Given the description of an element on the screen output the (x, y) to click on. 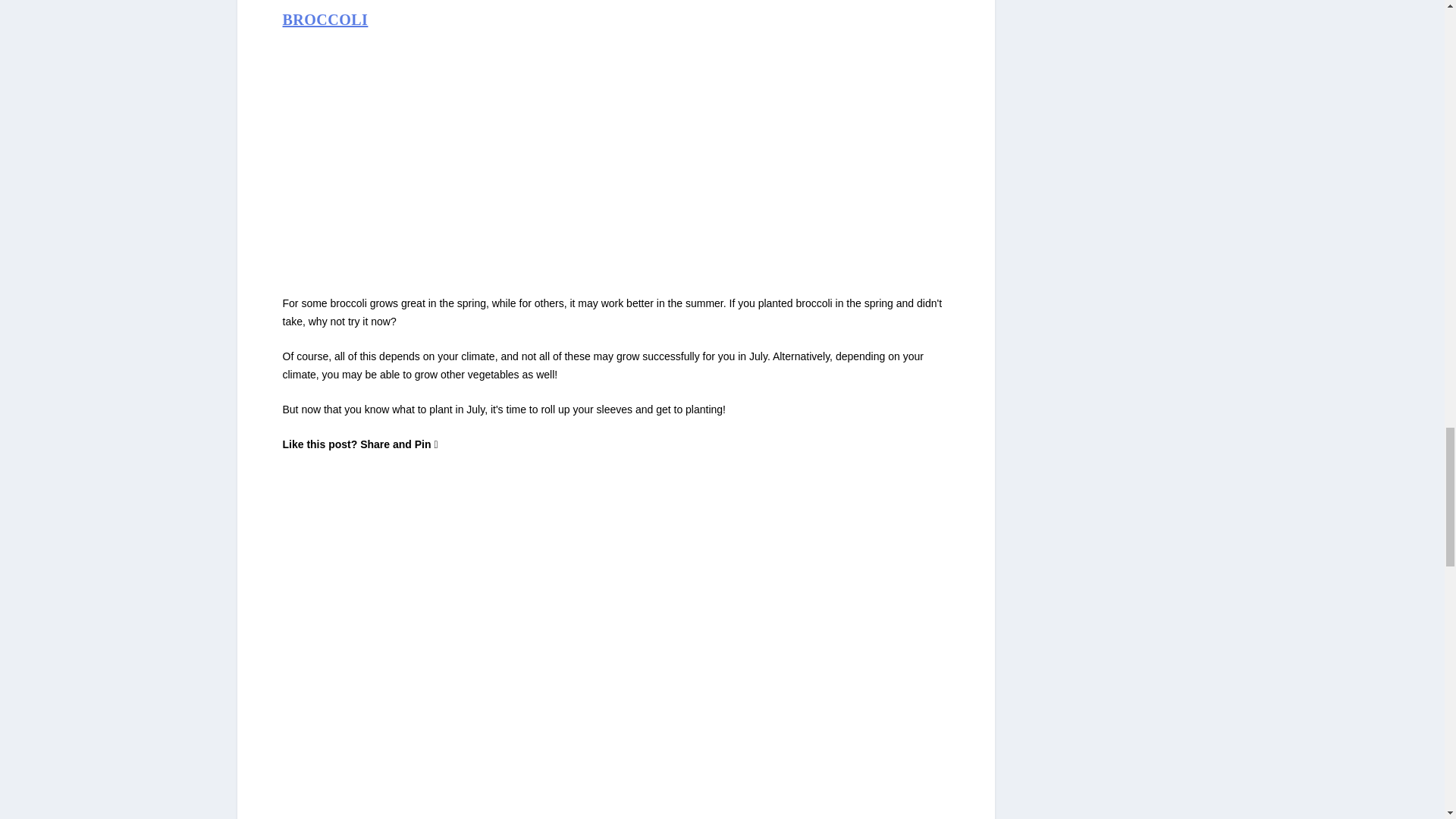
BROCCOLI (325, 19)
harvesting broccoli (459, 153)
